Given the description of an element on the screen output the (x, y) to click on. 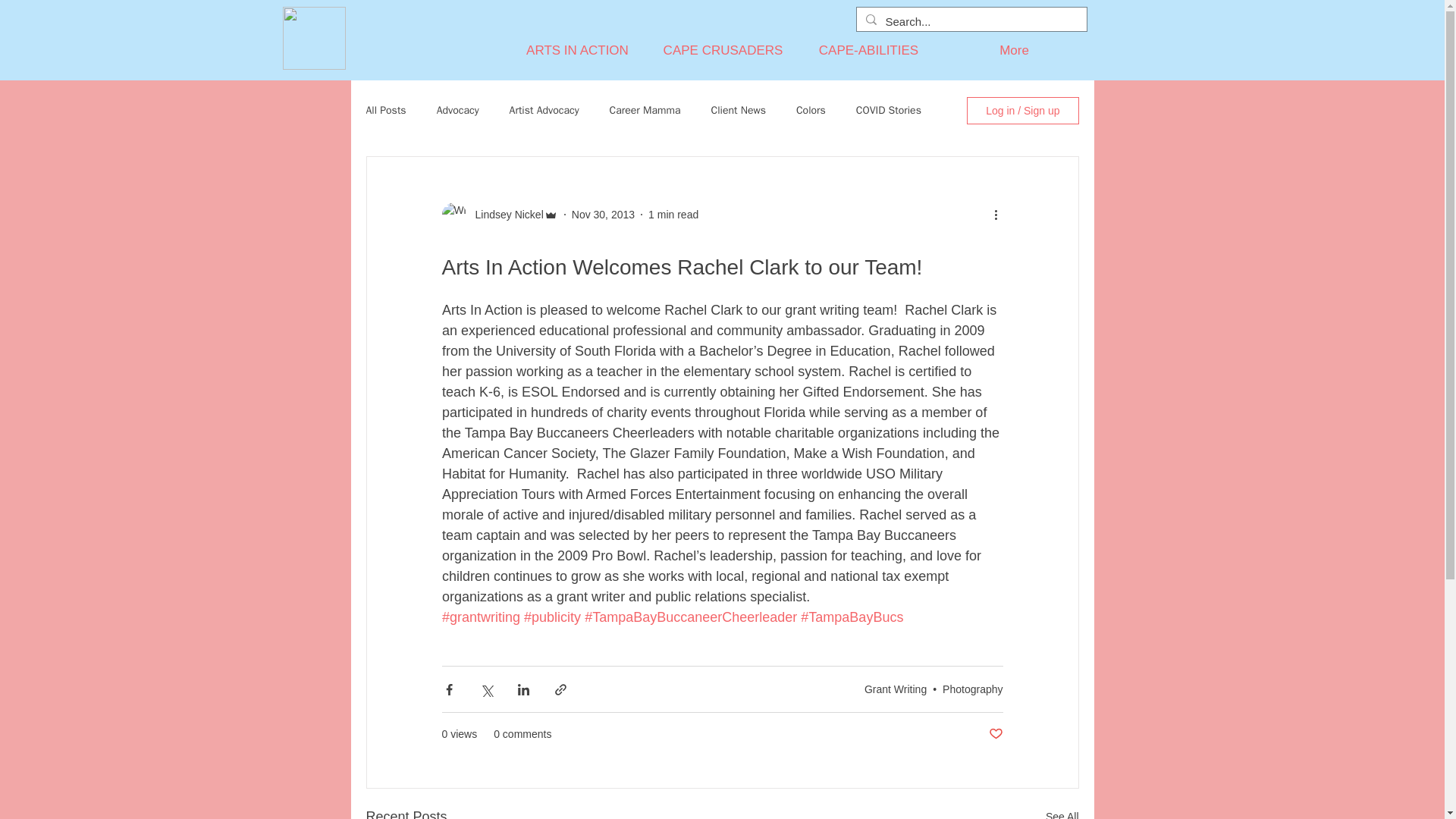
1 min read (672, 214)
Colors (810, 110)
CAPE CRUSADERS (723, 50)
Artist Advocacy (544, 110)
All Posts (385, 110)
COVID Stories (888, 110)
Client News (738, 110)
Career Mamma (645, 110)
CAPE-ABILITIES (869, 50)
Lindsey Nickel (504, 213)
Advocacy (457, 110)
ARTS IN ACTION (577, 50)
Nov 30, 2013 (603, 214)
